Given the description of an element on the screen output the (x, y) to click on. 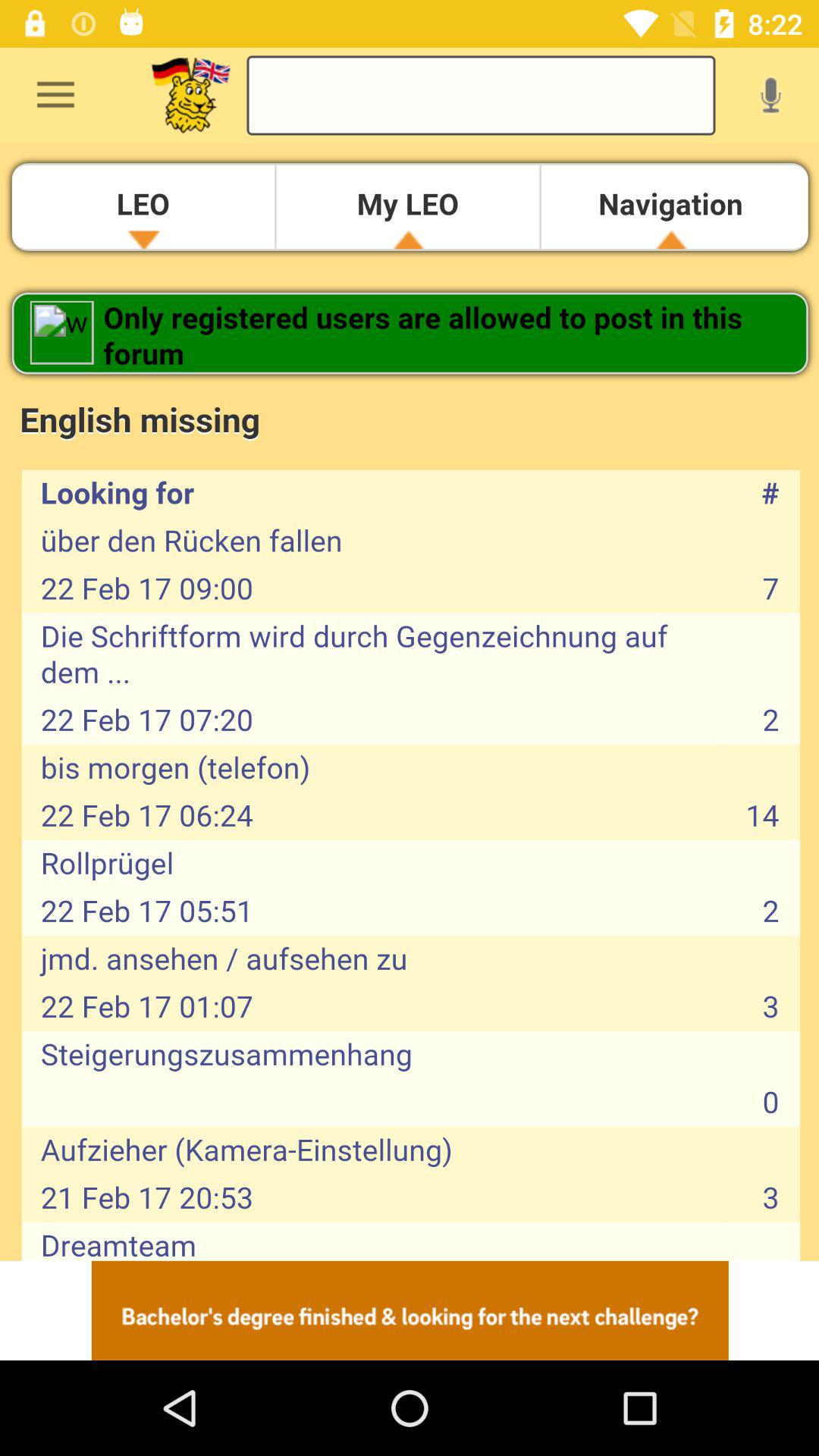
enter text field (480, 95)
